Given the description of an element on the screen output the (x, y) to click on. 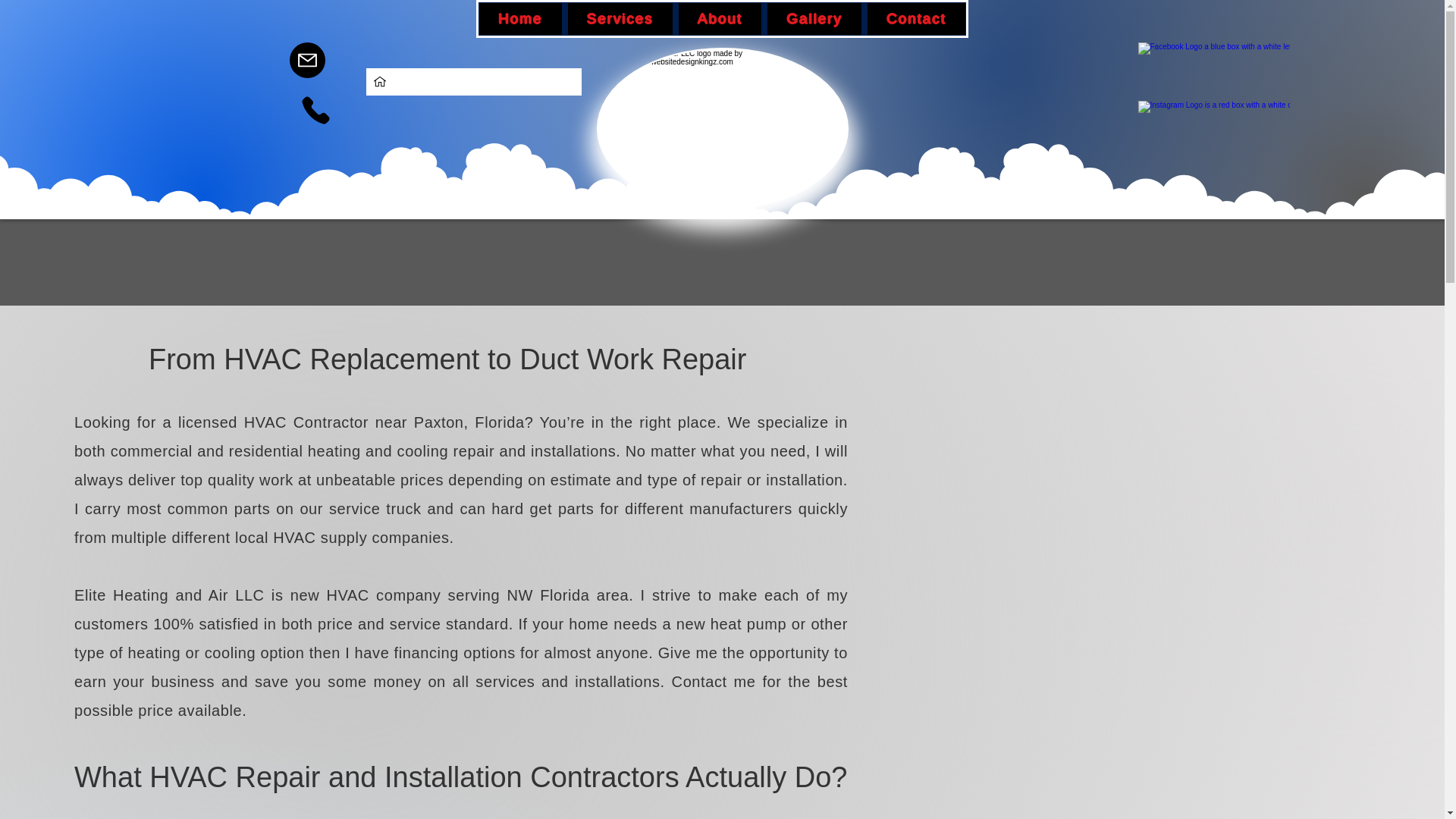
Gallery (814, 19)
Elite HVAC Contractor (721, 128)
Contact (916, 19)
Services (619, 19)
About (719, 19)
Home (520, 19)
Paxton (422, 81)
